Given the description of an element on the screen output the (x, y) to click on. 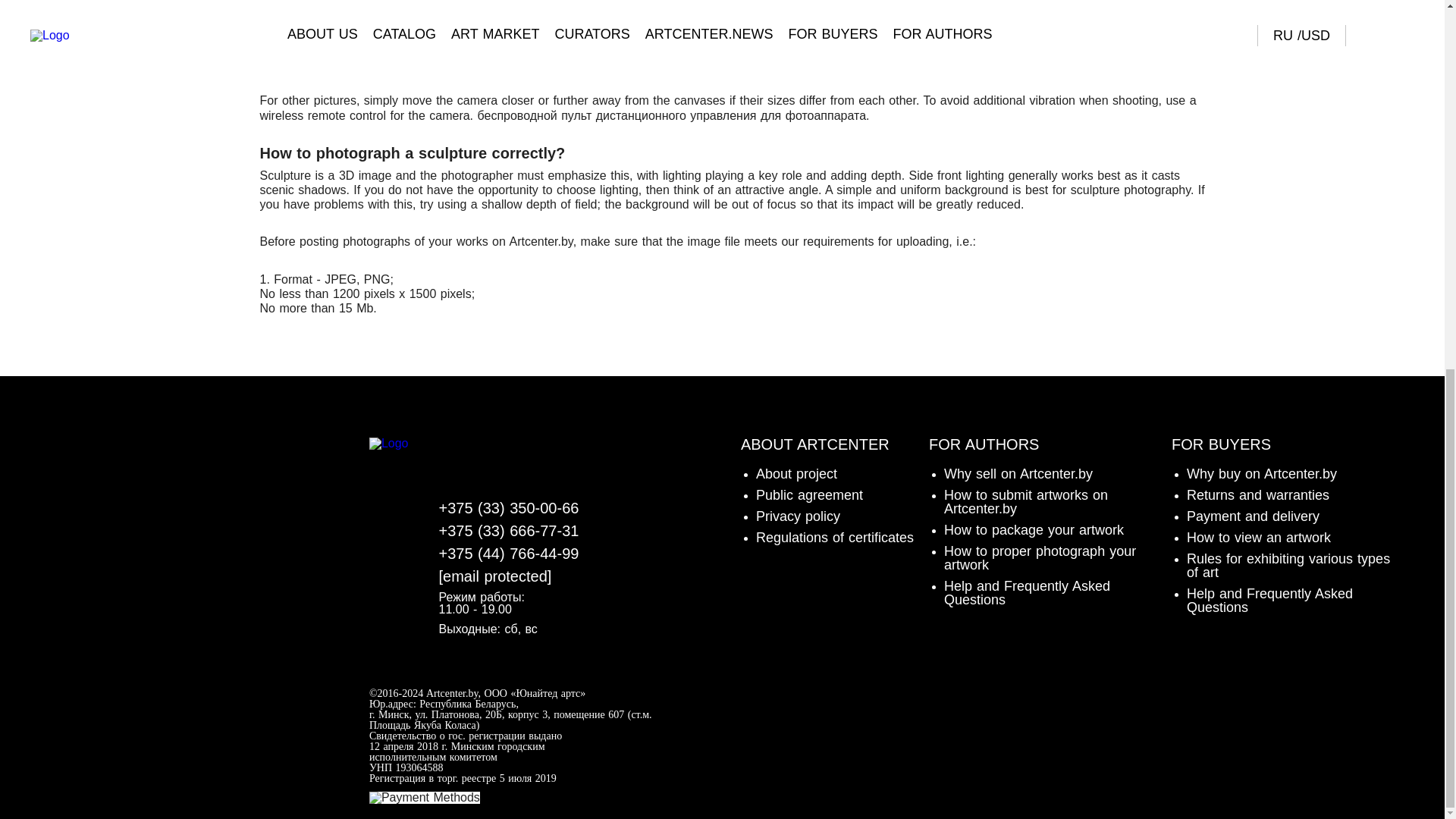
VK (463, 453)
Instagram (520, 453)
Public agreement (809, 494)
About project (796, 473)
